Given the description of an element on the screen output the (x, y) to click on. 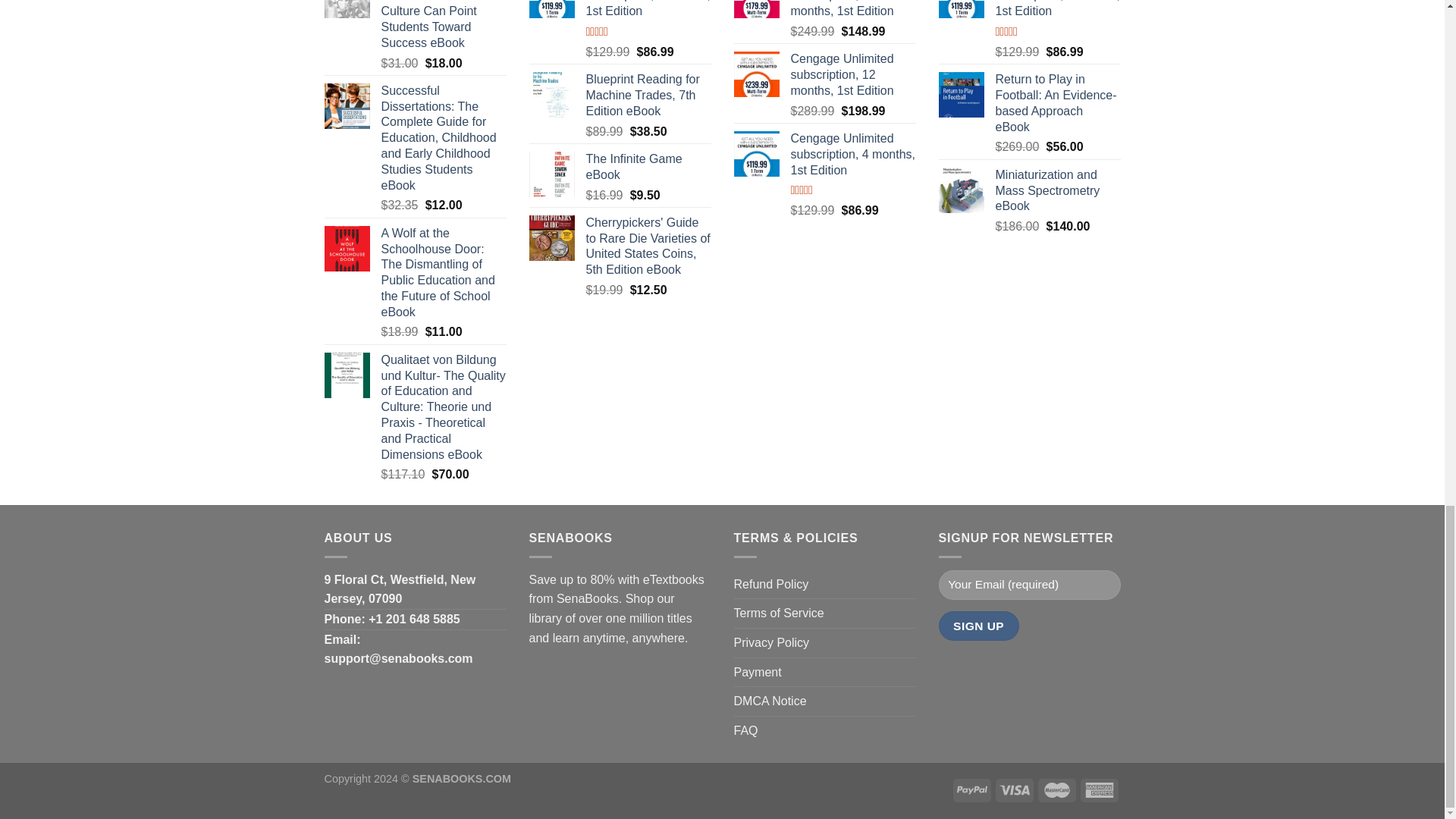
Sign Up (979, 625)
Cengage Unlimited subscription, 4 months, 1st Edition (647, 9)
Blueprint Reading for Machine Trades, 7th Edition eBook (647, 95)
